Given the description of an element on the screen output the (x, y) to click on. 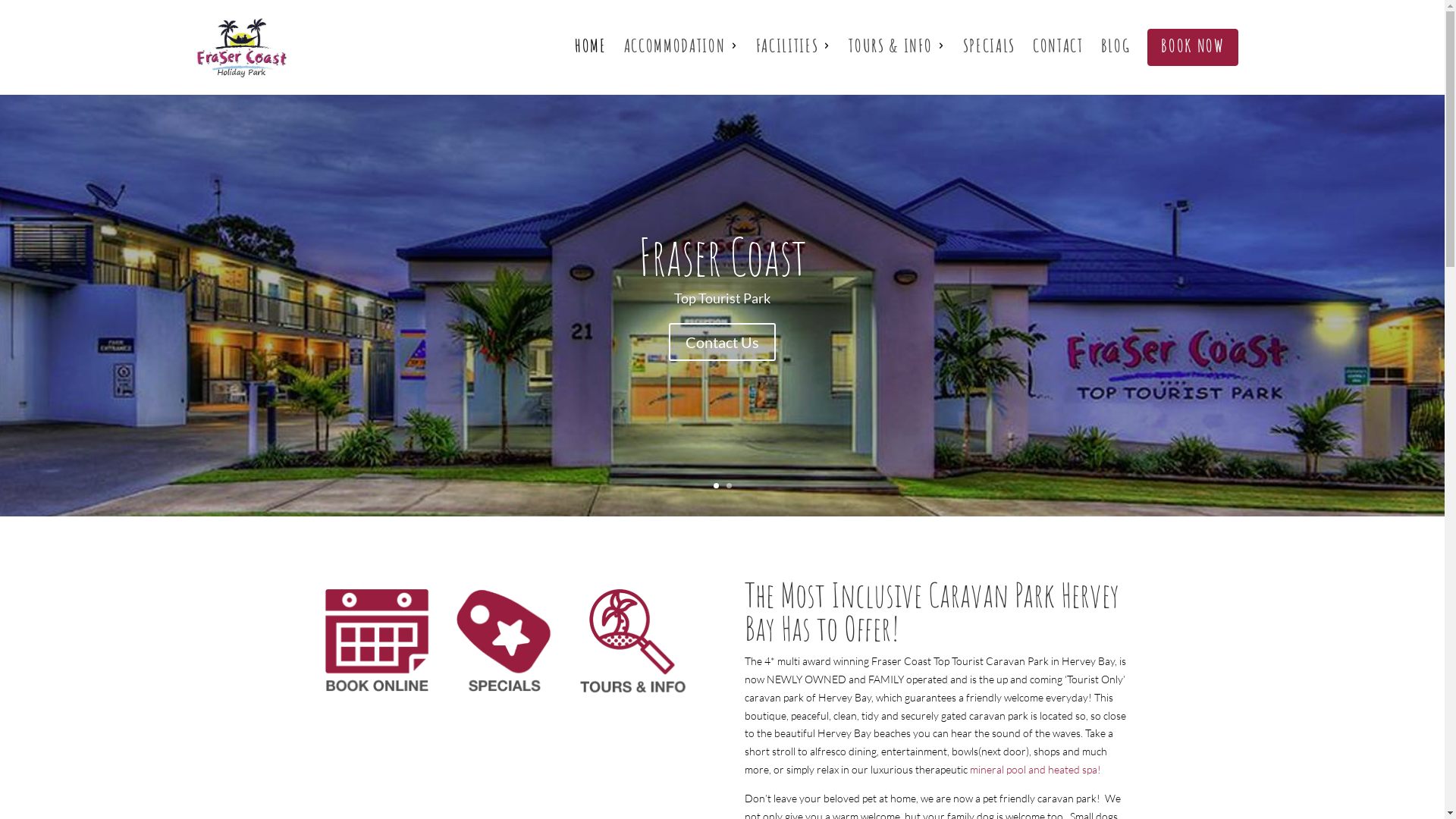
Tours & Info Element type: text (631, 641)
Book Online Element type: text (376, 641)
SPECIALS Element type: text (989, 45)
1 Element type: text (715, 485)
mineral pool and heated spa! Element type: text (1035, 768)
Fraser Coast Element type: text (722, 256)
Specials Element type: text (504, 641)
CONTACT Element type: text (1057, 45)
FACILITIES Element type: text (787, 45)
TOURS & INFO Element type: text (889, 45)
HOME Element type: text (590, 45)
ACCOMMODATION Element type: text (674, 45)
BLOG Element type: text (1115, 45)
Contact Us Element type: text (721, 341)
2 Element type: text (728, 485)
BOOK NOW Element type: text (1192, 45)
